Given the description of an element on the screen output the (x, y) to click on. 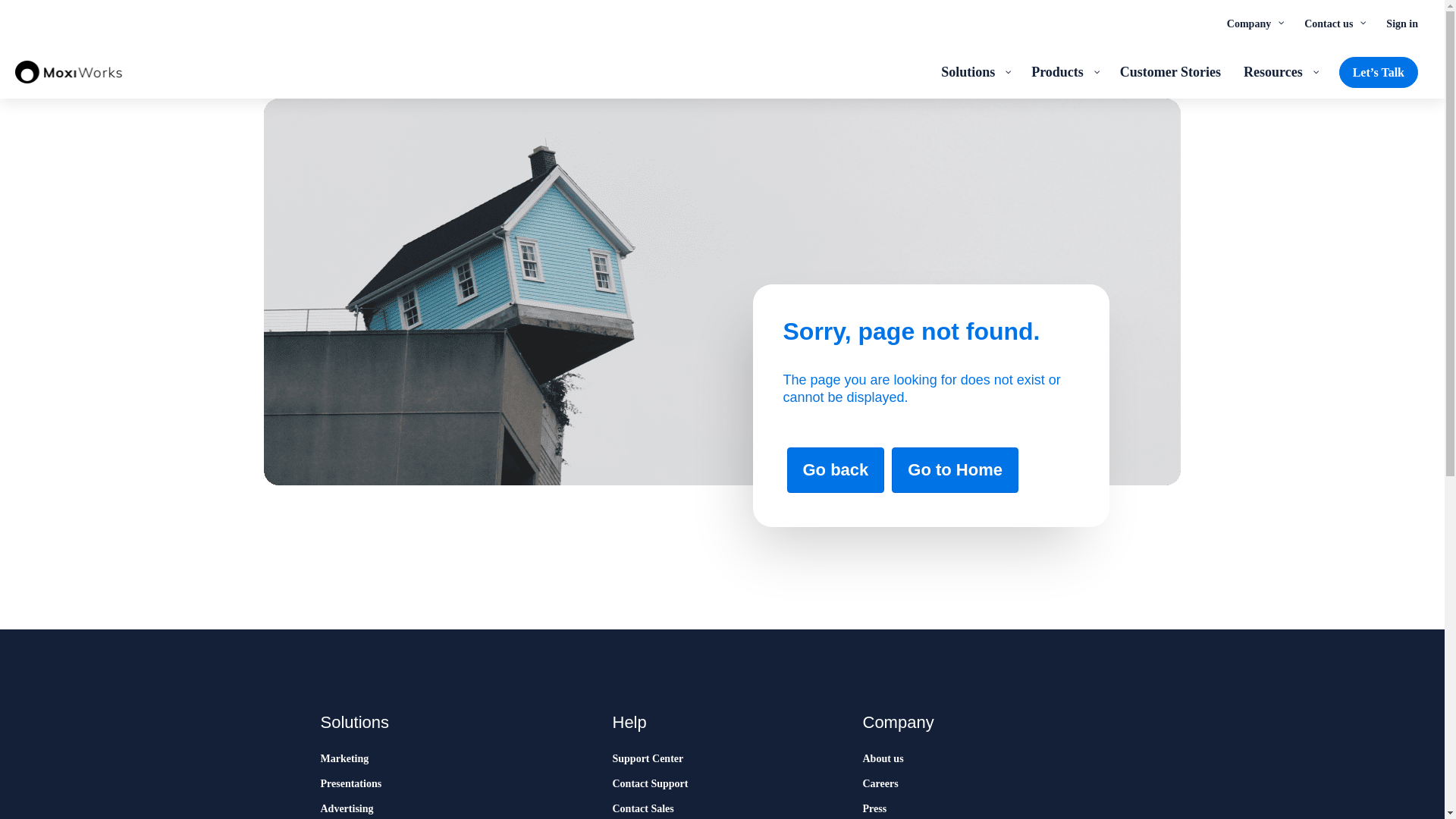
Sign in (1401, 22)
Products (1064, 72)
Contact us (1333, 22)
Company (1253, 22)
Solutions (975, 72)
